Given the description of an element on the screen output the (x, y) to click on. 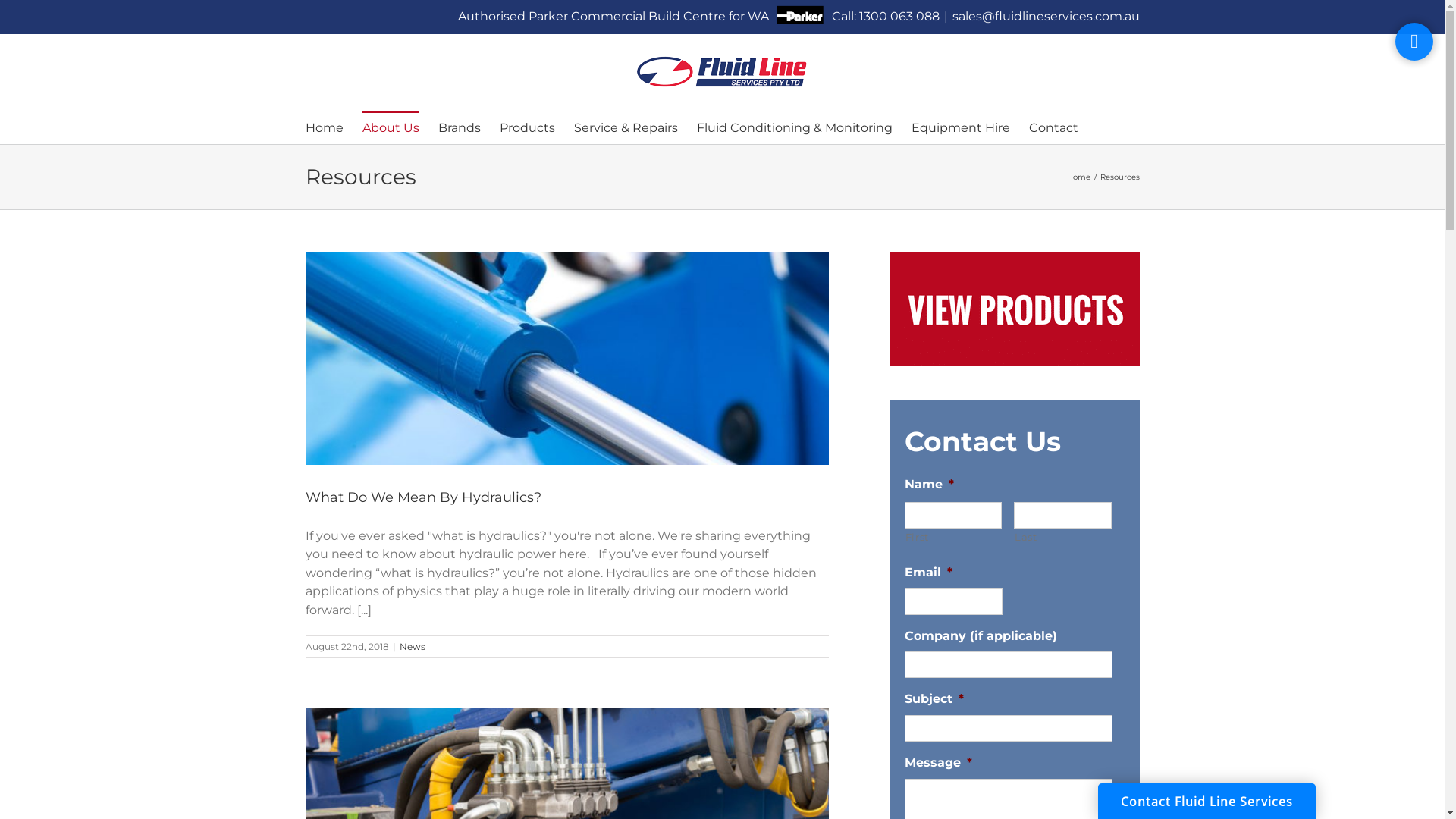
Service & Repairs Element type: text (625, 126)
Products Element type: text (526, 126)
About Us Element type: text (390, 126)
Home Element type: text (1077, 177)
Home Element type: text (323, 126)
sales@fluidlineservices.com.au Element type: text (1045, 16)
What Do We Mean By Hydraulics? Element type: text (422, 497)
Equipment Hire Element type: text (960, 126)
Contact Element type: text (1052, 126)
News Element type: text (411, 646)
Fluid Conditioning & Monitoring Element type: text (793, 126)
Brands Element type: text (459, 126)
